Given the description of an element on the screen output the (x, y) to click on. 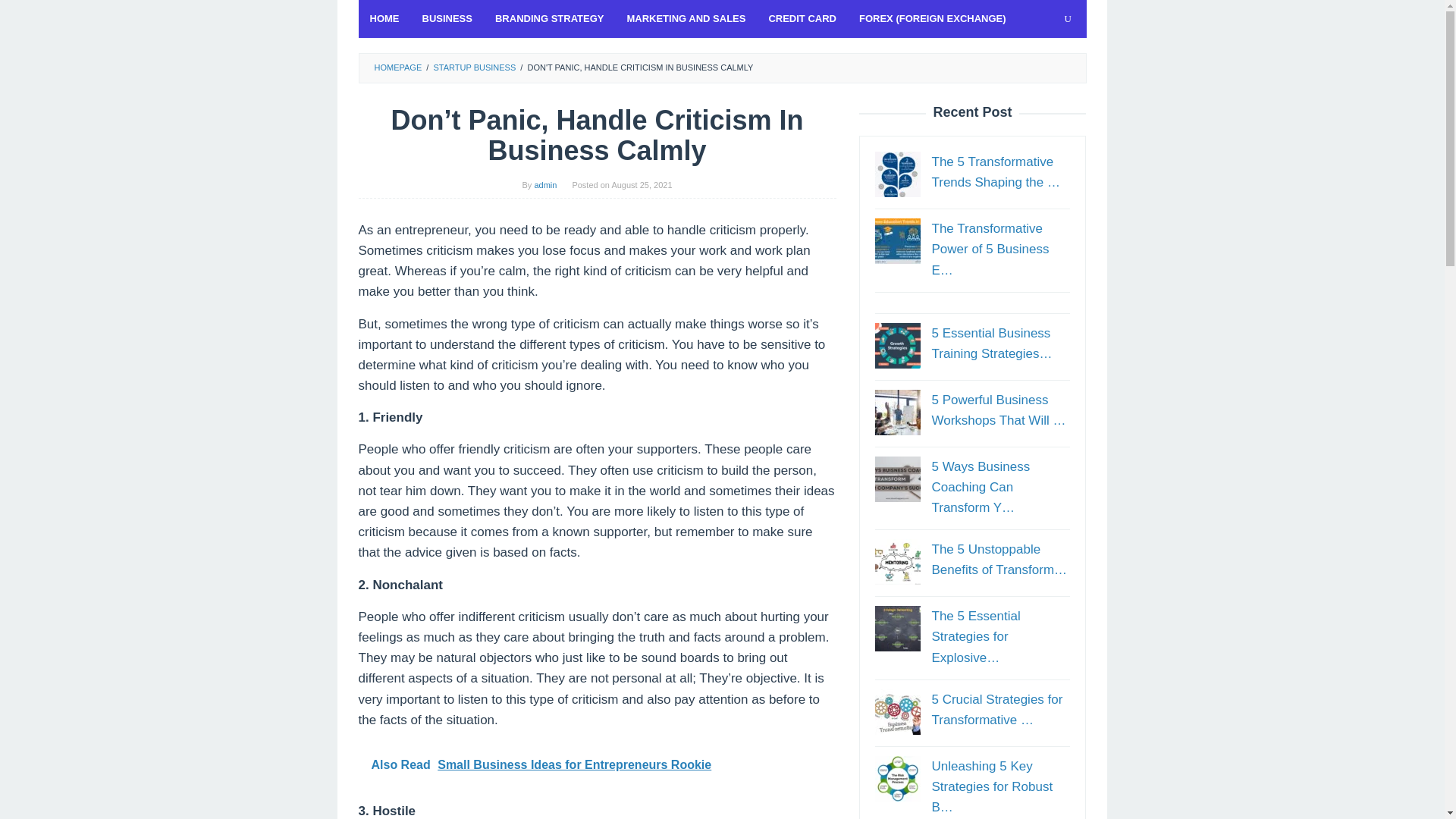
Also Read  Small Business Ideas for Entrepreneurs Rookie (596, 764)
CREDIT CARD (802, 18)
admin (545, 184)
MARKETING AND SALES (685, 18)
HOME (384, 18)
BUSINESS (446, 18)
STARTUP BUSINESS (473, 67)
BRANDING STRATEGY (548, 18)
HOMEPAGE (398, 67)
Permalink to: admin (545, 184)
